Given the description of an element on the screen output the (x, y) to click on. 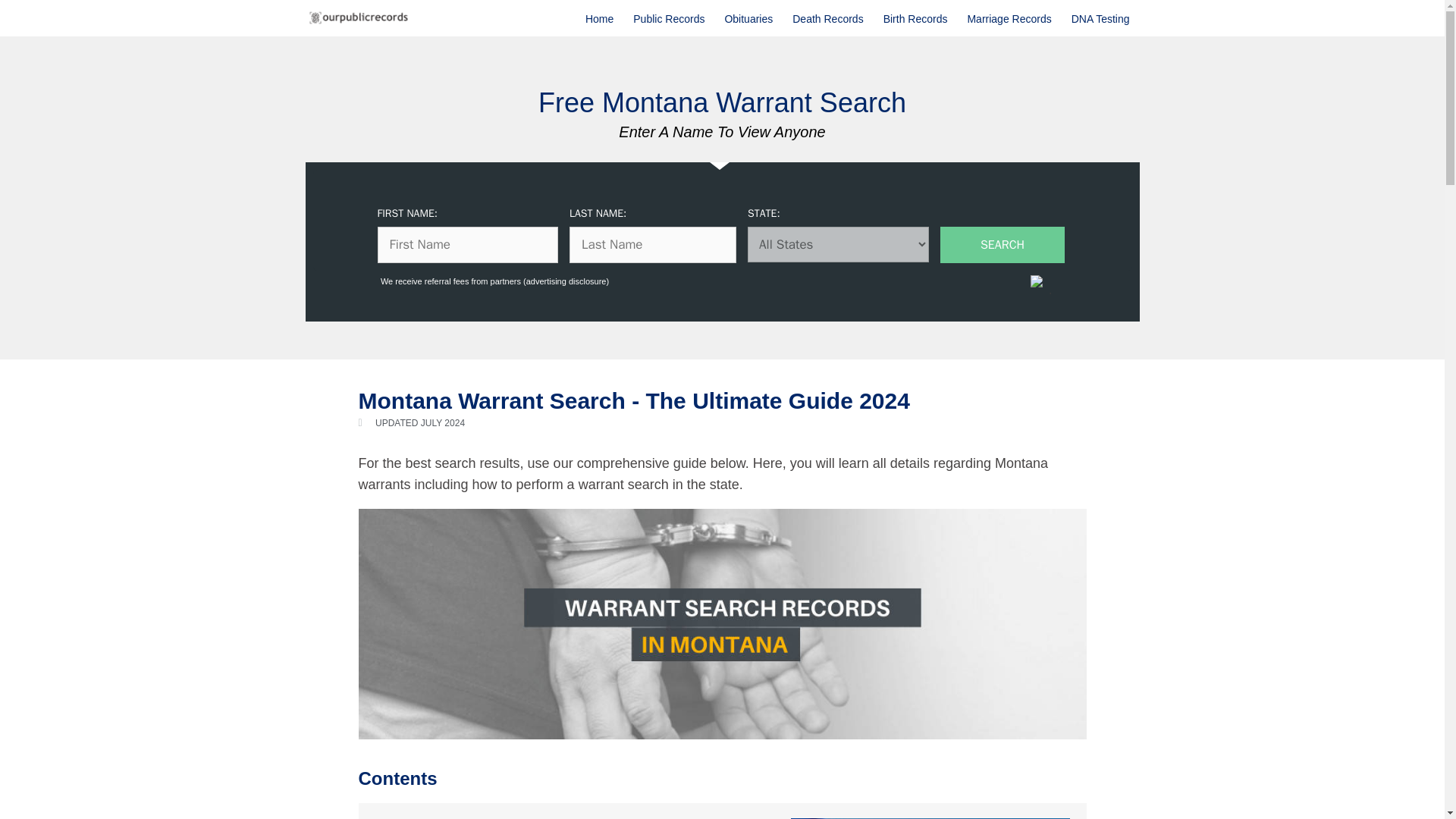
norton logo (1047, 284)
DNA Testing (1100, 18)
Death Records (827, 18)
Obituaries (748, 18)
SEARCH (1002, 244)
Birth Records (915, 18)
Public Records (668, 18)
Marriage Records (1008, 18)
Home (599, 18)
